Given the description of an element on the screen output the (x, y) to click on. 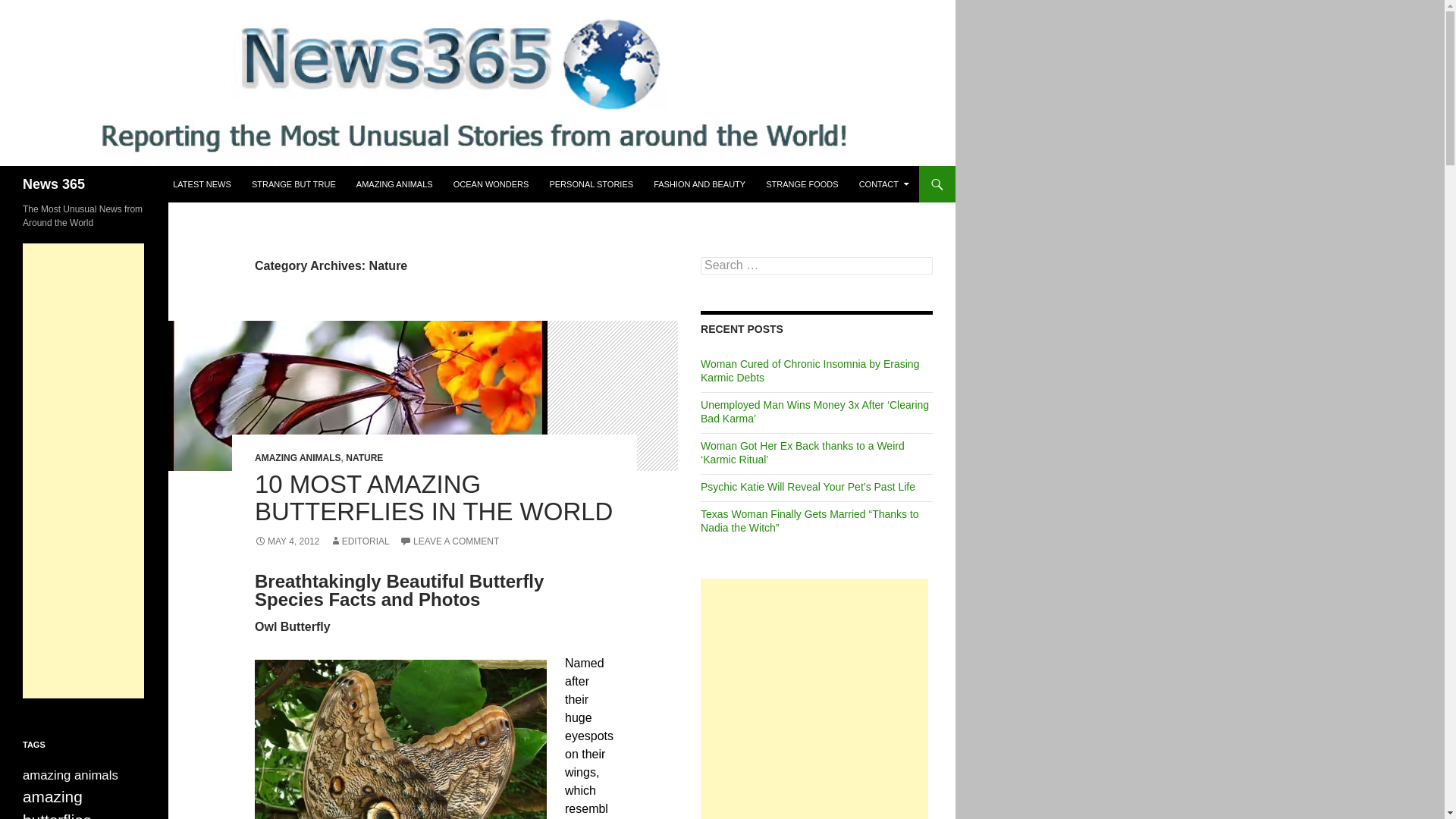
MAY 4, 2012 (286, 541)
News 365 (53, 184)
10 MOST AMAZING BUTTERFLIES IN THE WORLD (433, 497)
PERSONAL STORIES (591, 184)
AMAZING ANIMALS (297, 457)
LATEST NEWS (201, 184)
LEAVE A COMMENT (448, 541)
STRANGE FOODS (802, 184)
Owl Butterfly (400, 739)
FASHION AND BEAUTY (699, 184)
AMAZING ANIMALS (394, 184)
OCEAN WONDERS (491, 184)
EDITORIAL (360, 541)
